Given the description of an element on the screen output the (x, y) to click on. 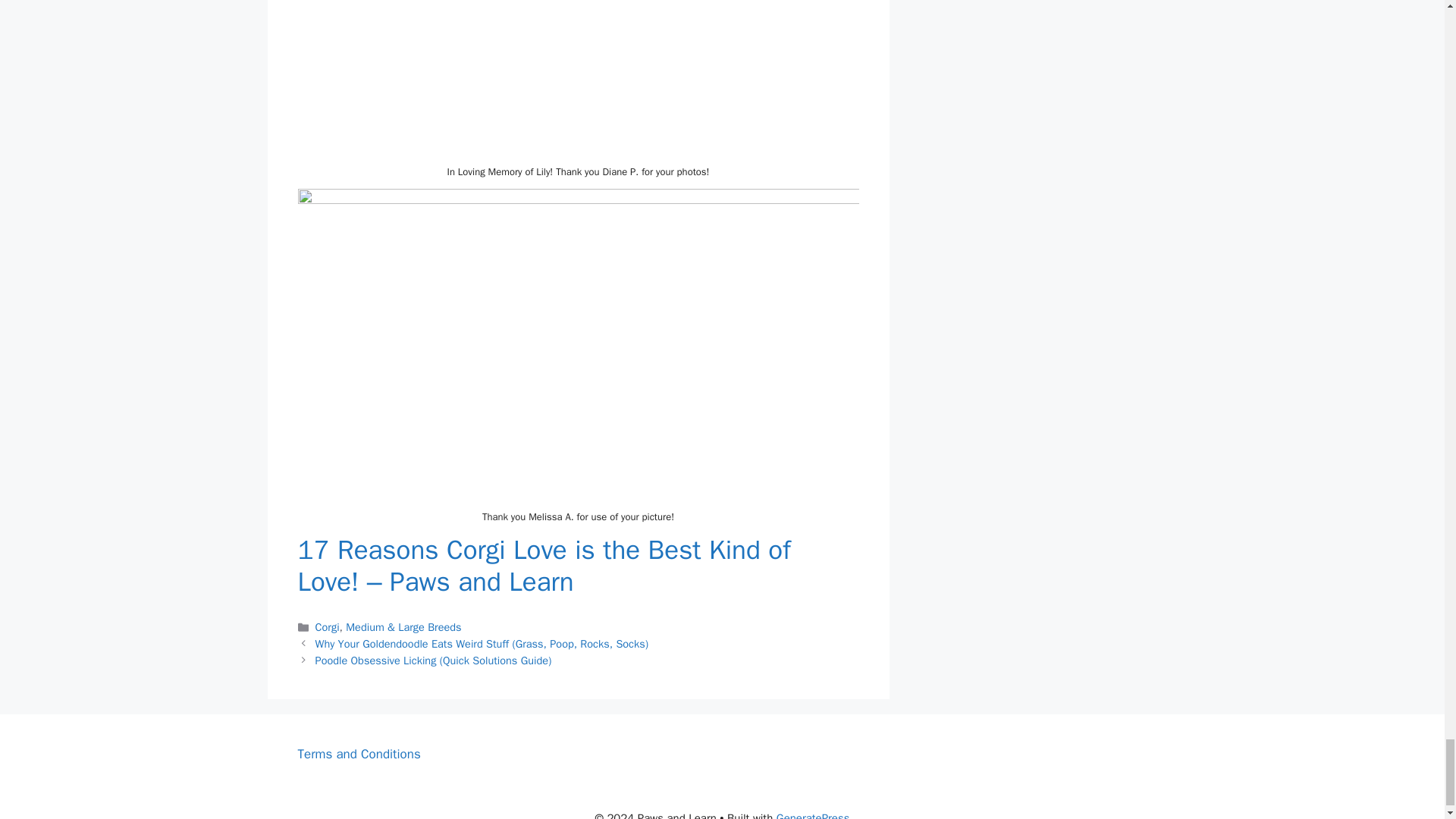
Corgi (327, 626)
